Given the description of an element on the screen output the (x, y) to click on. 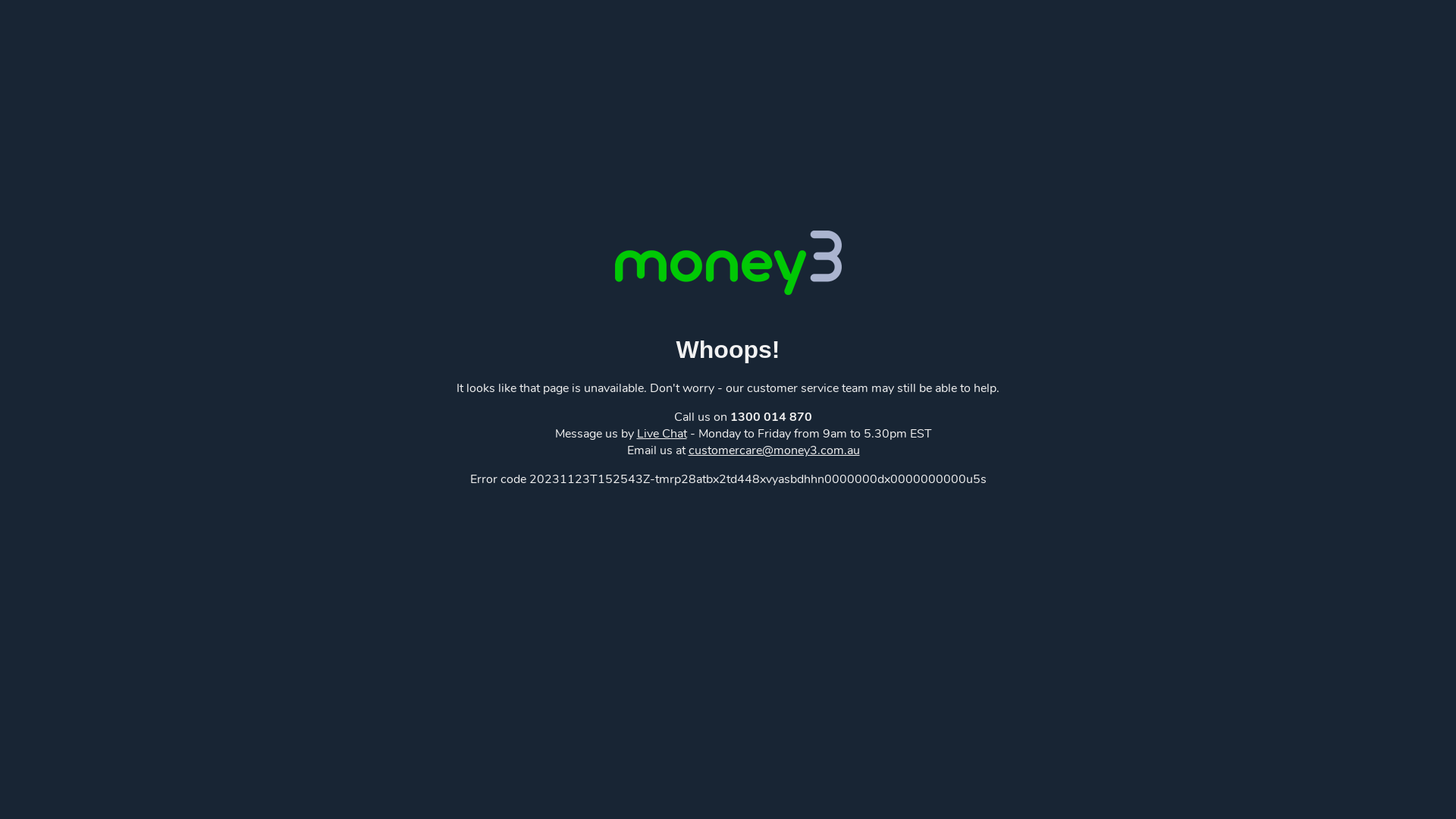
Live Chat Element type: text (662, 433)
customercare@money3.com.au Element type: text (773, 450)
